Given the description of an element on the screen output the (x, y) to click on. 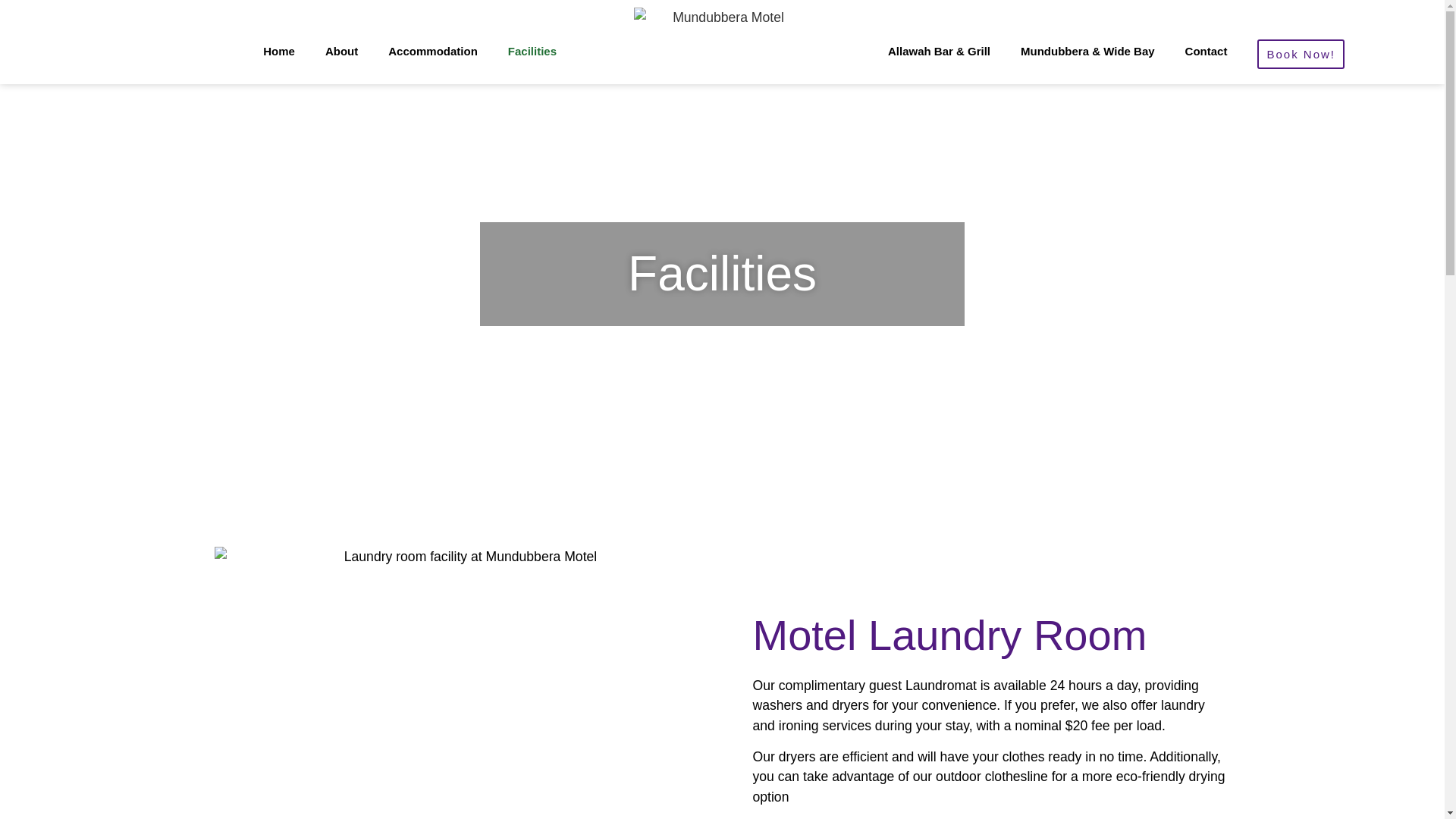
About (341, 51)
Contact (1206, 51)
Home (278, 51)
Accommodation (432, 51)
Facilities (532, 51)
Book Now! (1300, 53)
